Given the description of an element on the screen output the (x, y) to click on. 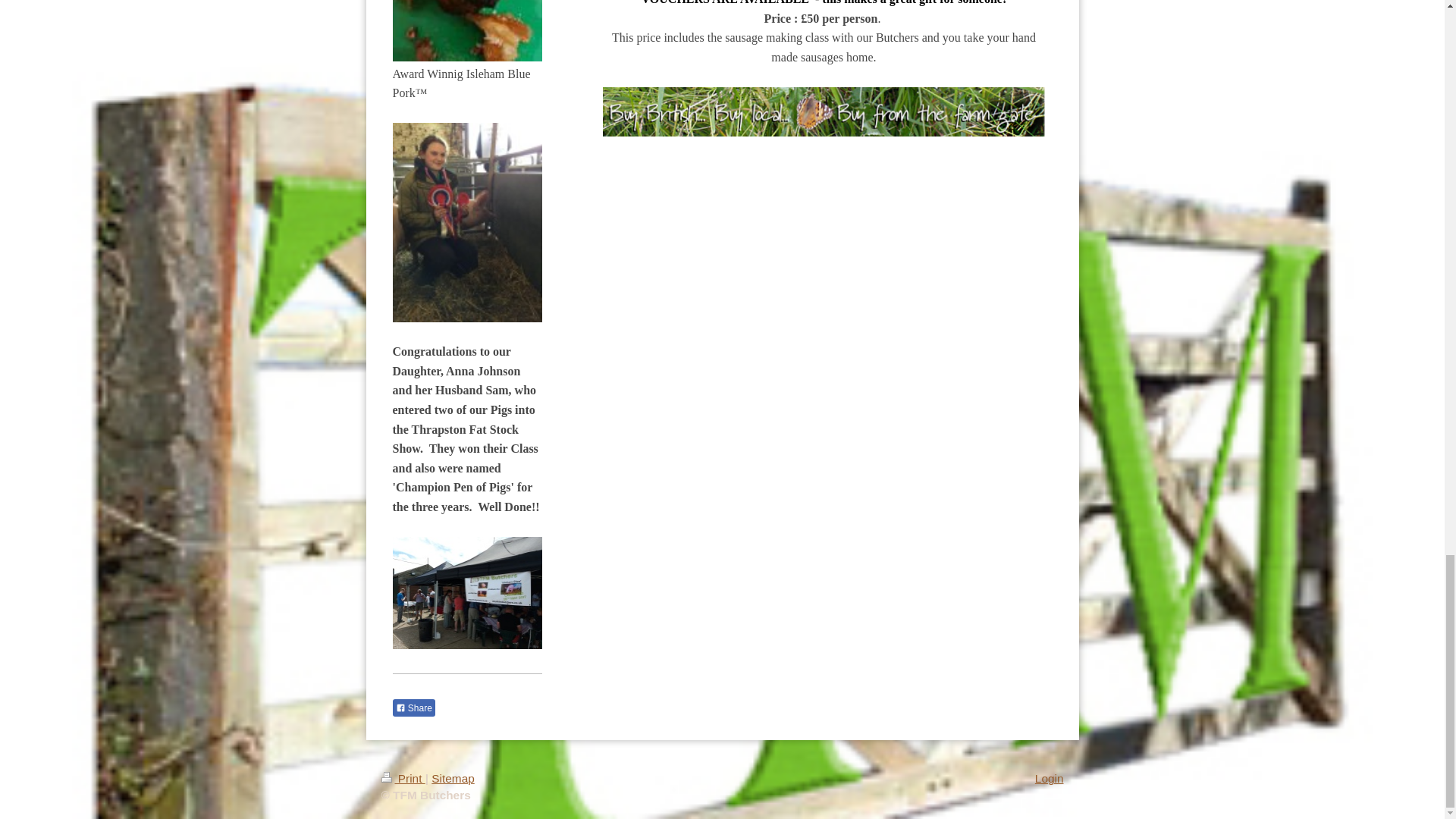
Sitemap (452, 778)
Print (402, 778)
Login (1049, 778)
Share (414, 707)
